Given the description of an element on the screen output the (x, y) to click on. 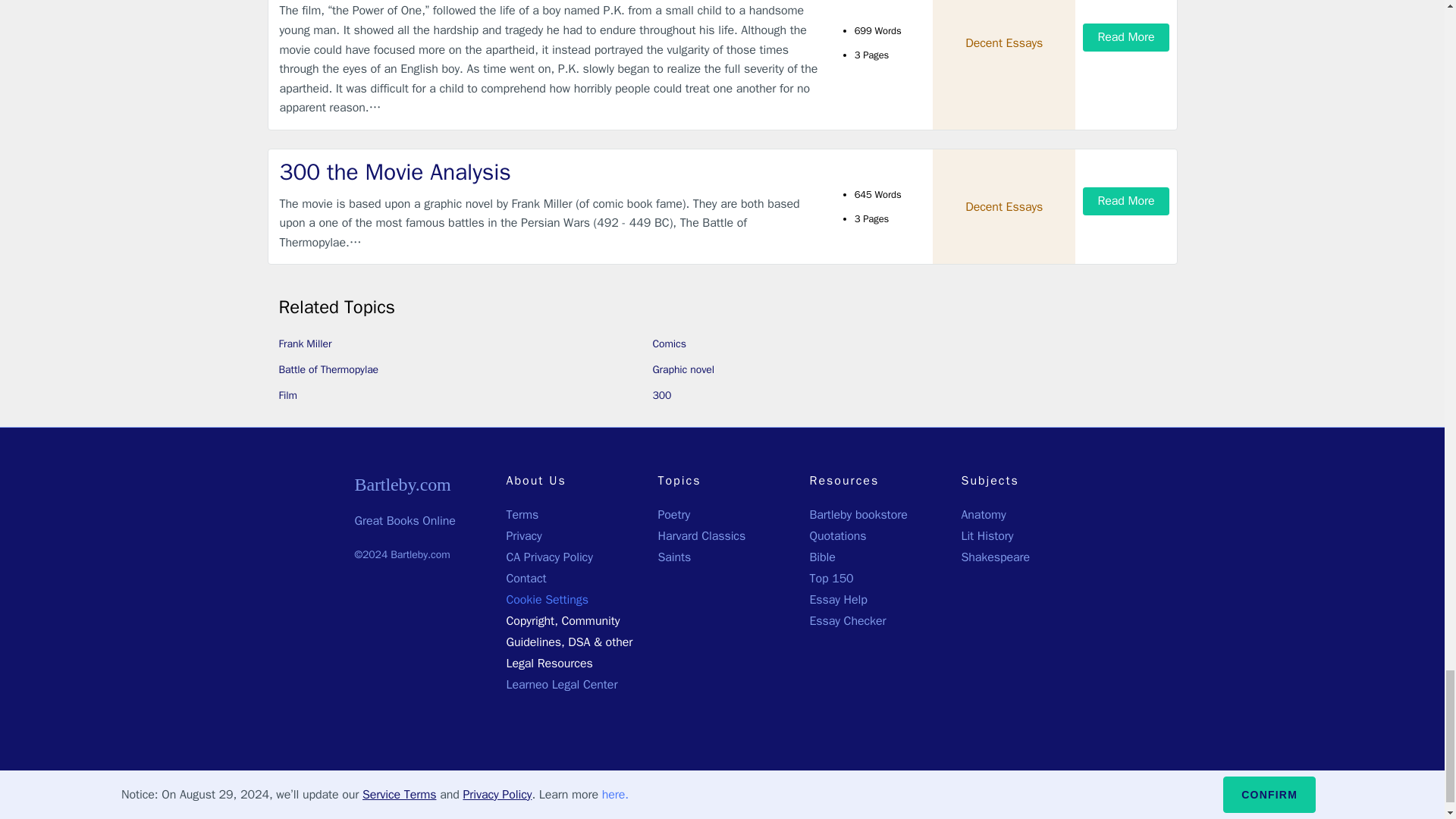
Battle of Thermopylae (328, 369)
Comics (668, 343)
Frank Miller (305, 343)
300 (661, 395)
Graphic novel (682, 369)
Film (288, 395)
